Given the description of an element on the screen output the (x, y) to click on. 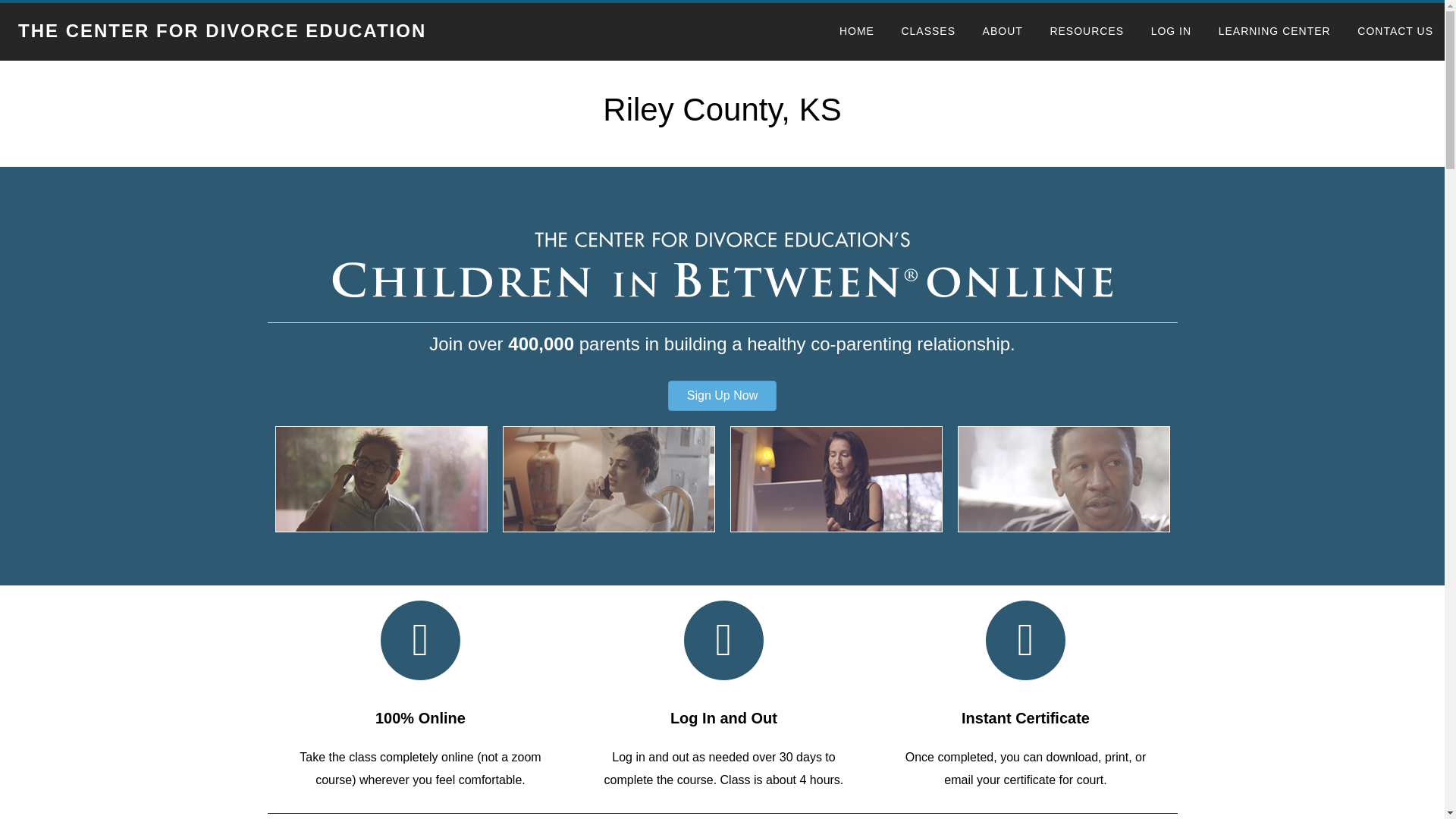
ABOUT (1002, 31)
RESOURCES (1086, 31)
THE CENTER FOR DIVORCE EDUCATION (221, 30)
Online Parenting Classes (927, 31)
CLASSES (927, 31)
Resources (1086, 31)
LEARNING CENTER (1274, 31)
LOG IN (1171, 31)
Sign Up Now (722, 395)
NewHeader (721, 263)
HOME (856, 31)
